Given the description of an element on the screen output the (x, y) to click on. 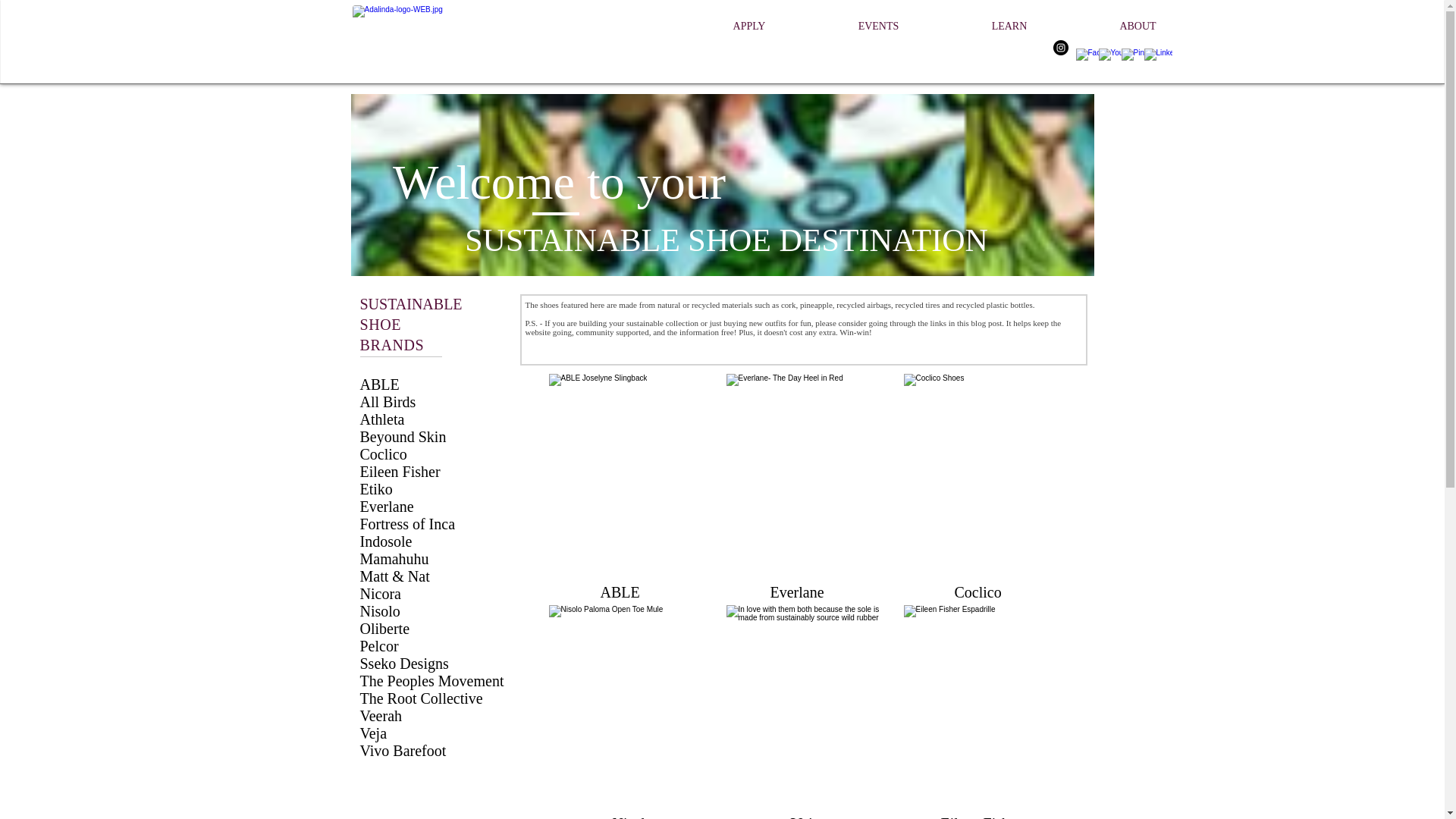
Etiko (375, 488)
Mamahuhu (393, 558)
The Root Collective (420, 698)
LEARN (1008, 25)
APPLY (749, 25)
Coclico (382, 453)
ABOUT (1138, 25)
ADALINDA LOGO.png (429, 41)
Nisolo (378, 610)
The Peoples Movement (431, 680)
